Given the description of an element on the screen output the (x, y) to click on. 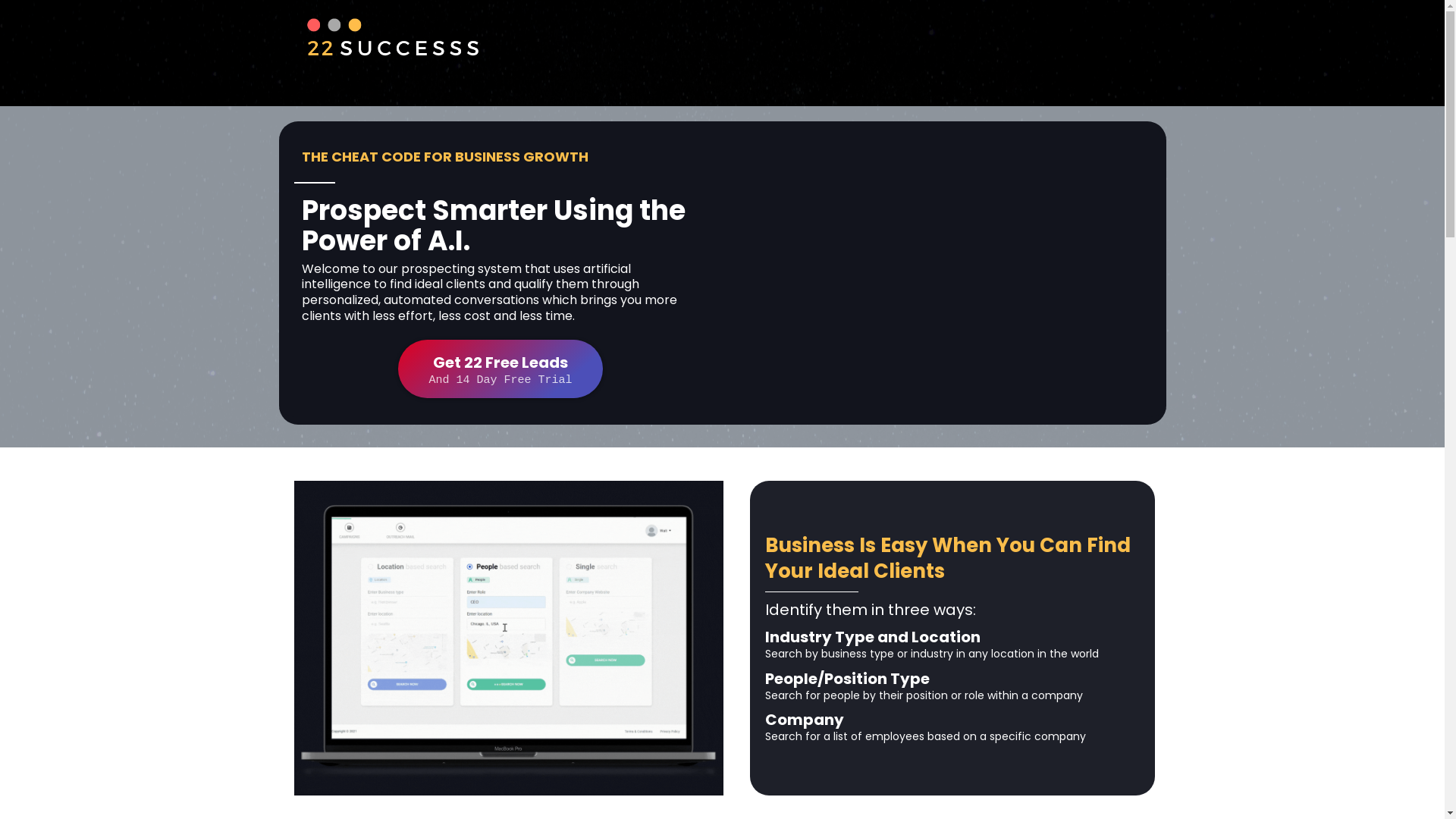
Get 22 Free Leads
And 14 Day Free Trial Element type: text (500, 368)
Leads Introduction Video Register Now.mp4 Element type: hover (943, 272)
